Given the description of an element on the screen output the (x, y) to click on. 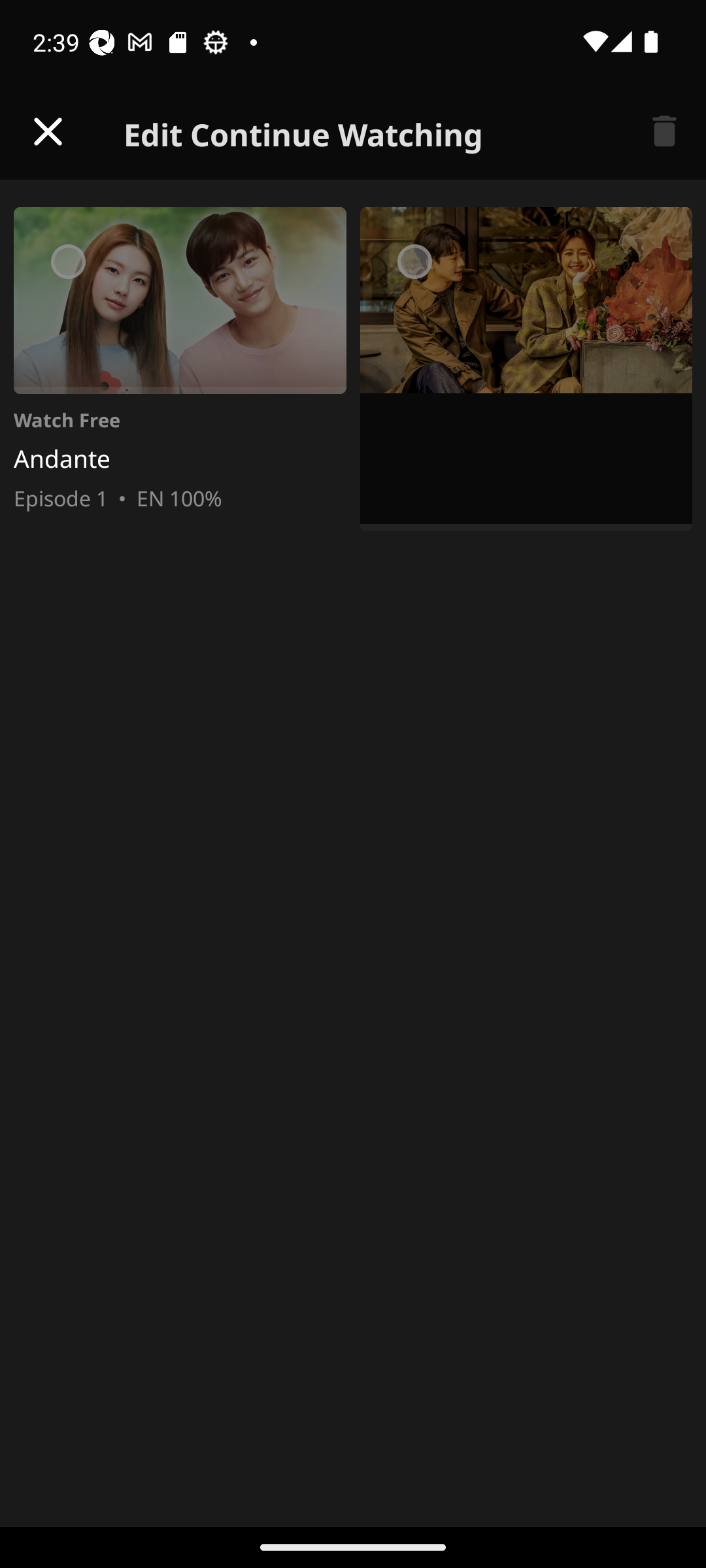
Done (48, 131)
EDIT (664, 131)
resource_cell 0.0 (526, 371)
